Given the description of an element on the screen output the (x, y) to click on. 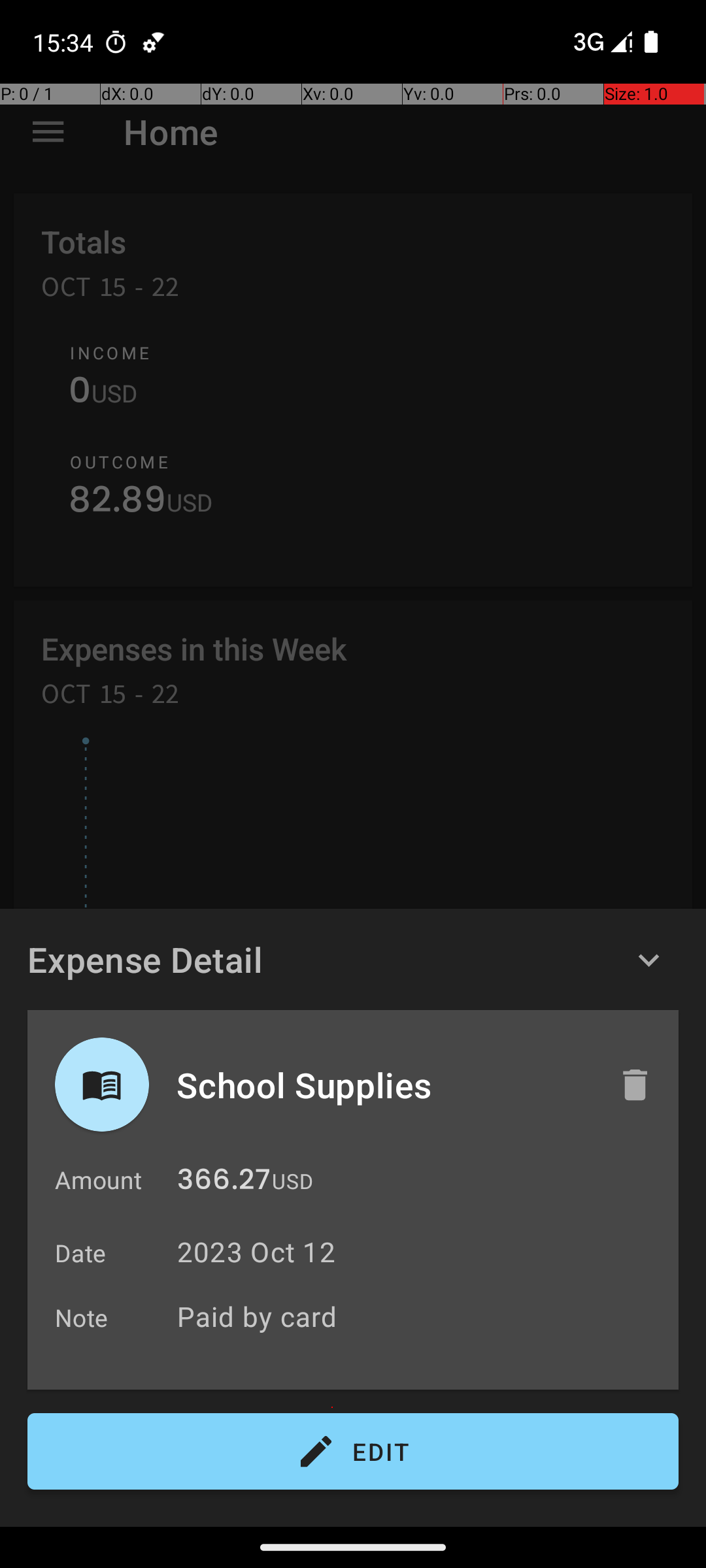
School Supplies Element type: android.widget.TextView (383, 1084)
366.27 Element type: android.widget.TextView (223, 1182)
